Given the description of an element on the screen output the (x, y) to click on. 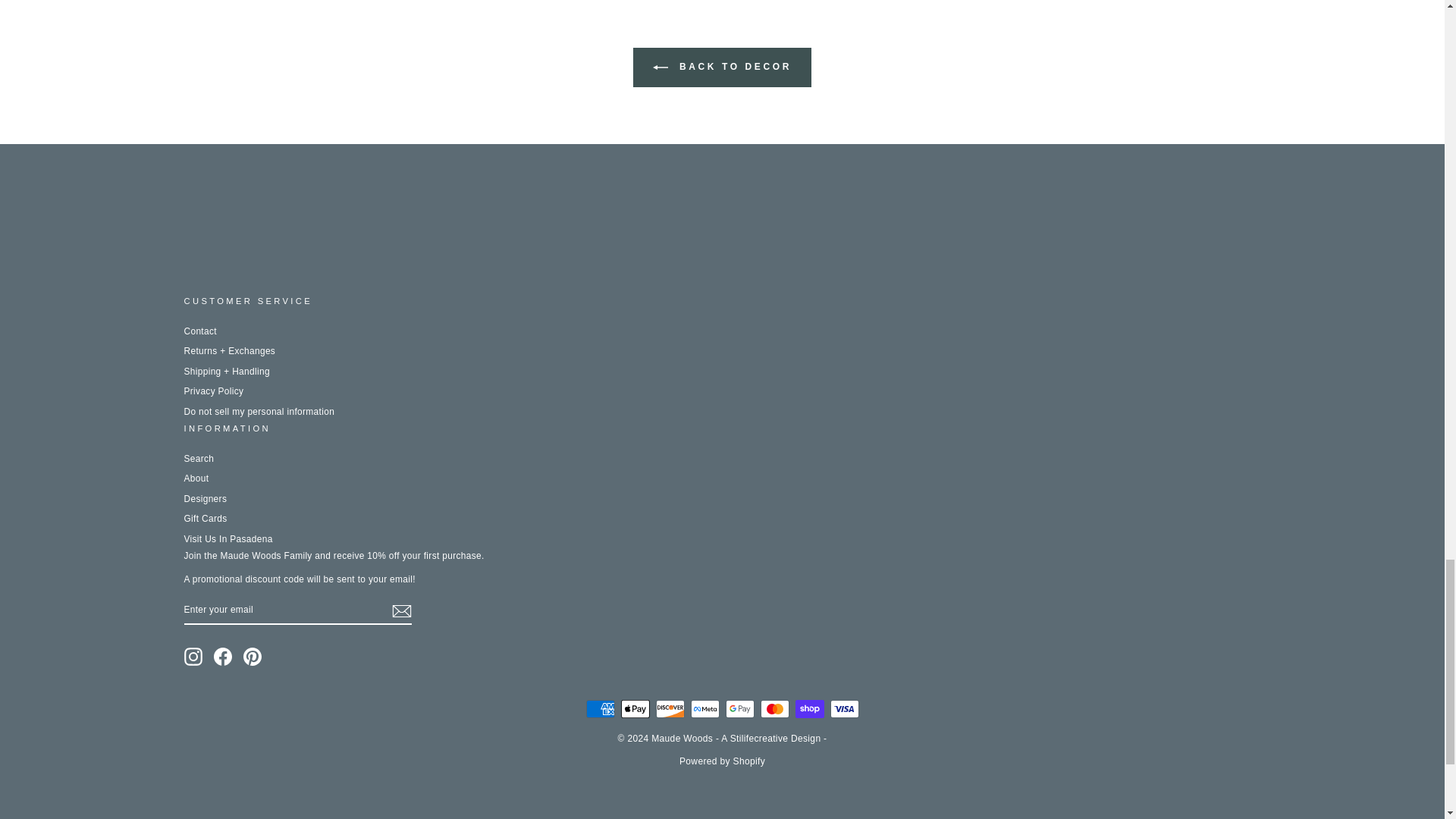
Maude Woods  on Instagram (192, 656)
Maude Woods  on Pinterest (251, 656)
Maude Woods  on Facebook (222, 656)
